Given the description of an element on the screen output the (x, y) to click on. 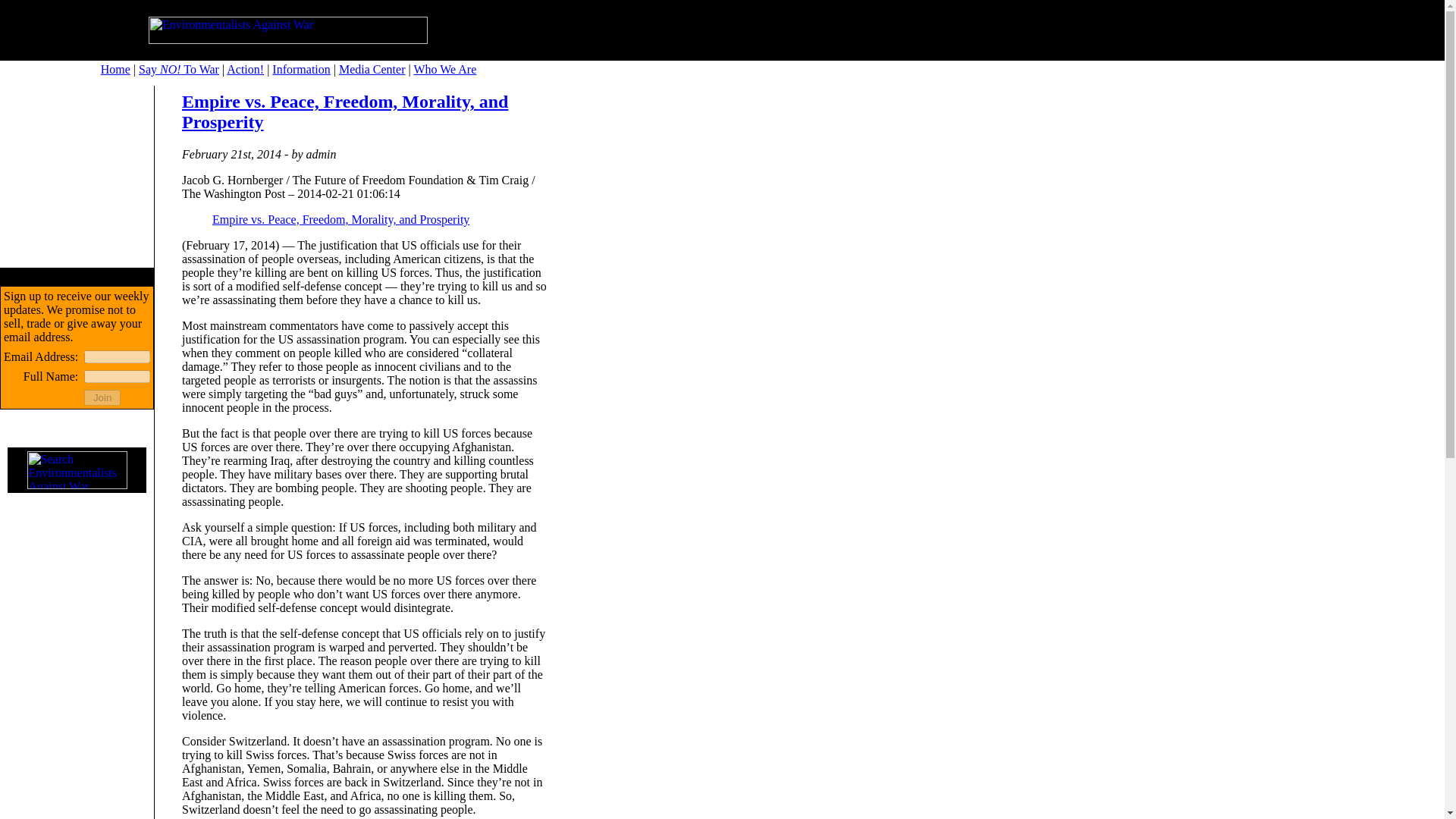
Who We Are (444, 69)
Say NO! To War (178, 69)
Media Center (372, 69)
Empire vs. Peace, Freedom, Morality, and Prosperity (340, 219)
Information (301, 69)
 Join  (102, 397)
Home (115, 69)
Empire vs. Peace, Freedom, Morality, and Prosperity (345, 111)
Action! (245, 69)
